Given the description of an element on the screen output the (x, y) to click on. 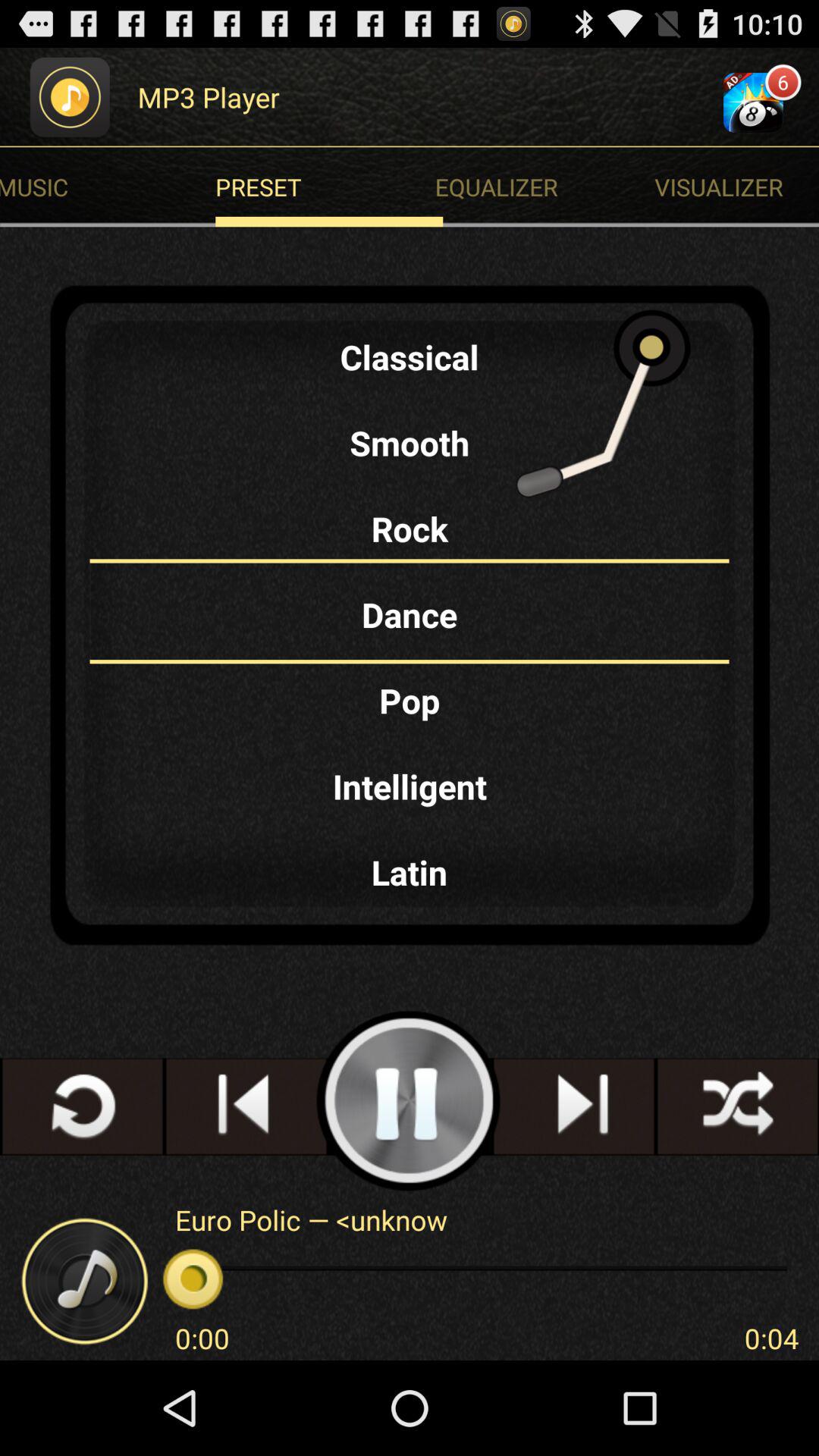
click the item next to preset radio button (736, 186)
